Given the description of an element on the screen output the (x, y) to click on. 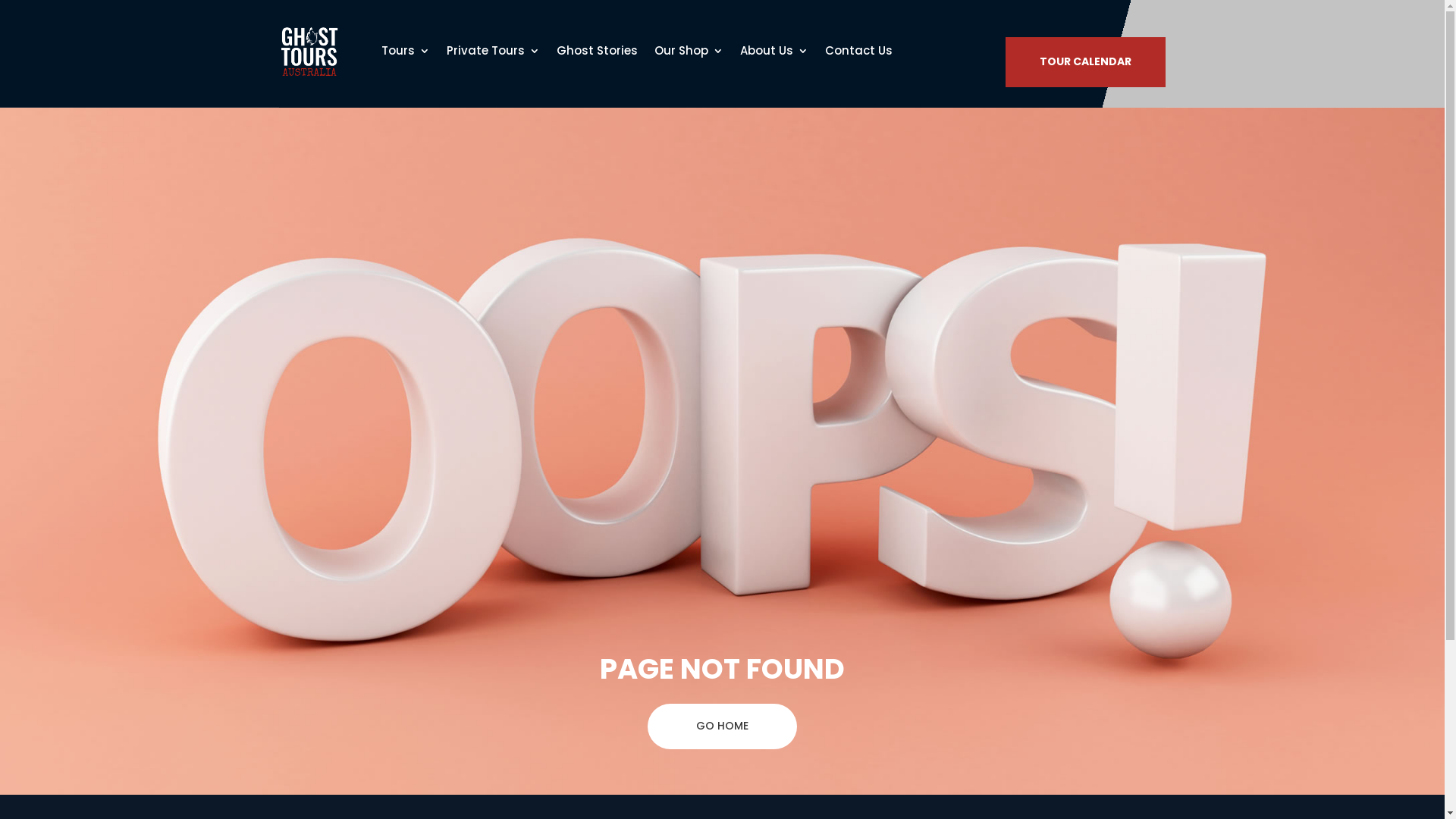
Our Shop Element type: text (687, 50)
Ghost Stories Element type: text (596, 50)
About Us Element type: text (774, 50)
Tours Element type: text (404, 50)
Contact Us Element type: text (858, 50)
GO HOME Element type: text (722, 726)
TOUR CALENDAR Element type: text (1085, 62)
Private Tours Element type: text (492, 50)
